Given the description of an element on the screen output the (x, y) to click on. 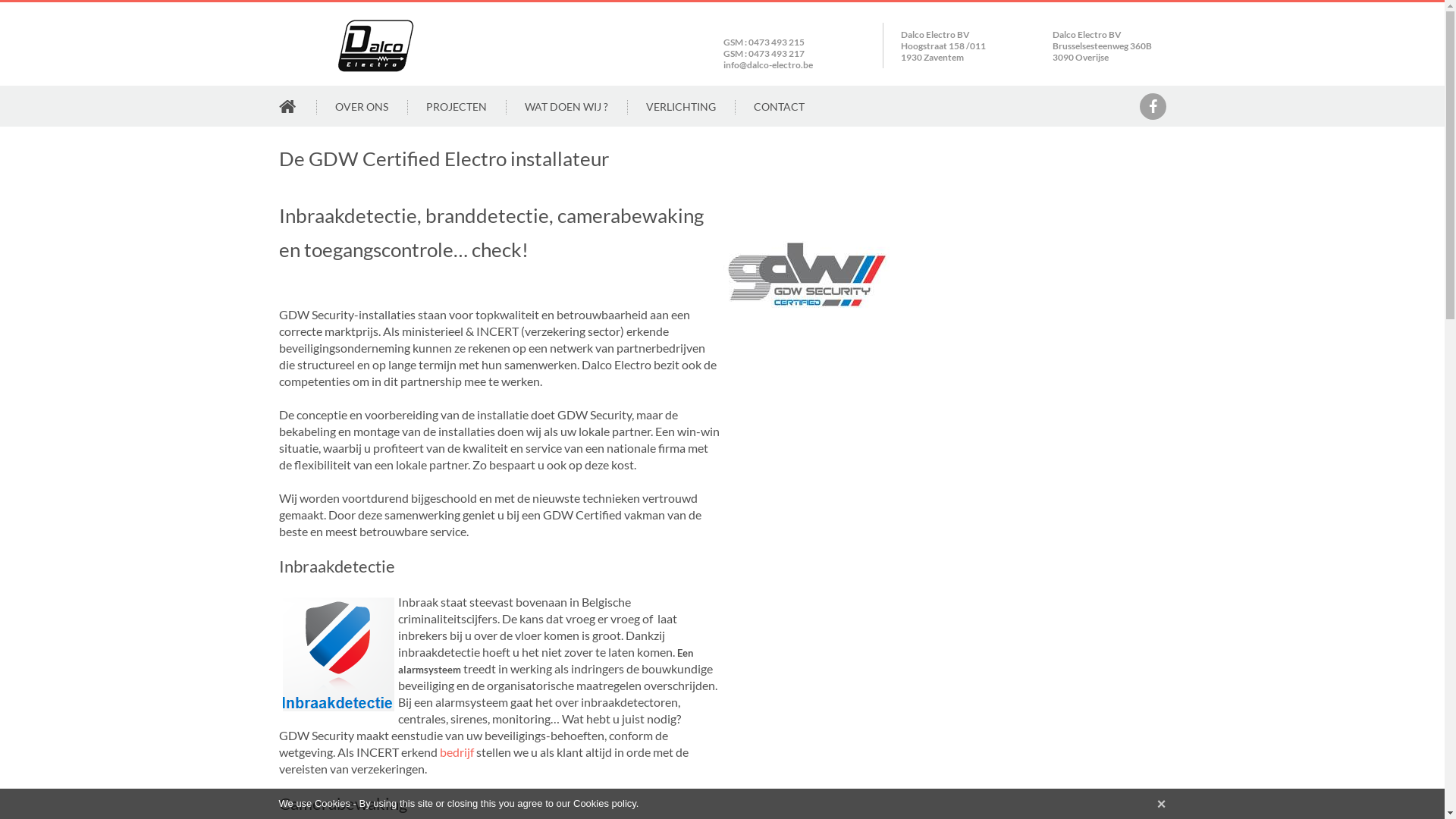
bedrijf Element type: text (457, 751)
Home Element type: hover (381, 25)
 De GDW Certified Electro installateur Element type: hover (804, 206)
OVER ONS Element type: text (361, 106)
VERLICHTING Element type: text (680, 106)
GSM : 0473 493 217 Element type: text (763, 53)
Overslaan en naar de inhoud gaan Element type: text (88, 0)
HOME Element type: text (288, 107)
CONTACT Element type: text (778, 106)
WAT DOEN WIJ ? Element type: text (566, 106)
PROJECTEN Element type: text (456, 106)
Skip to navigation Element type: text (46, 0)
GSM : 0473 493 215 Element type: text (763, 41)
info@dalco-electro.be Element type: text (767, 64)
